Given the description of an element on the screen output the (x, y) to click on. 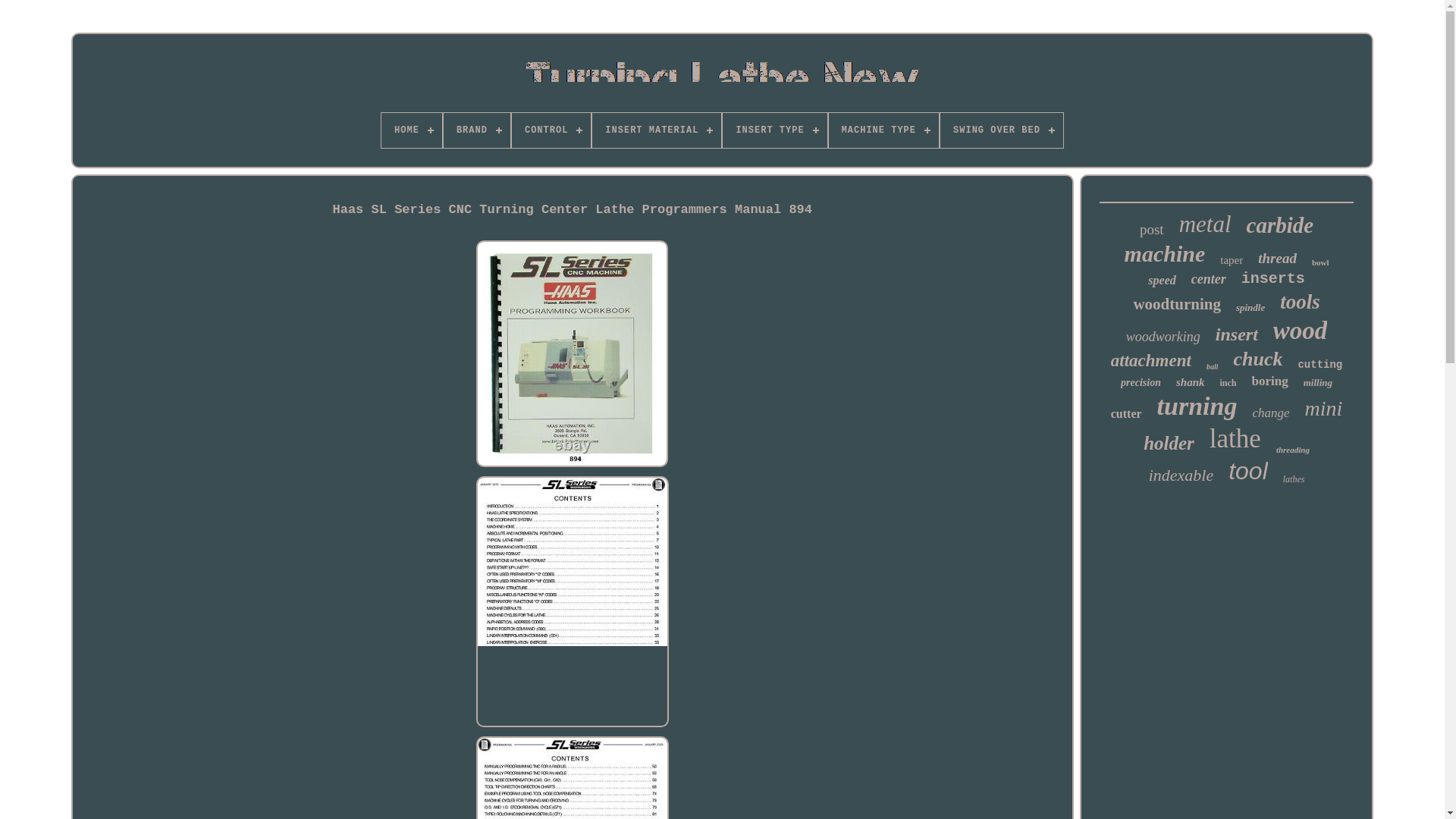
BRAND (477, 130)
HOME (411, 130)
CONTROL (551, 130)
